Given the description of an element on the screen output the (x, y) to click on. 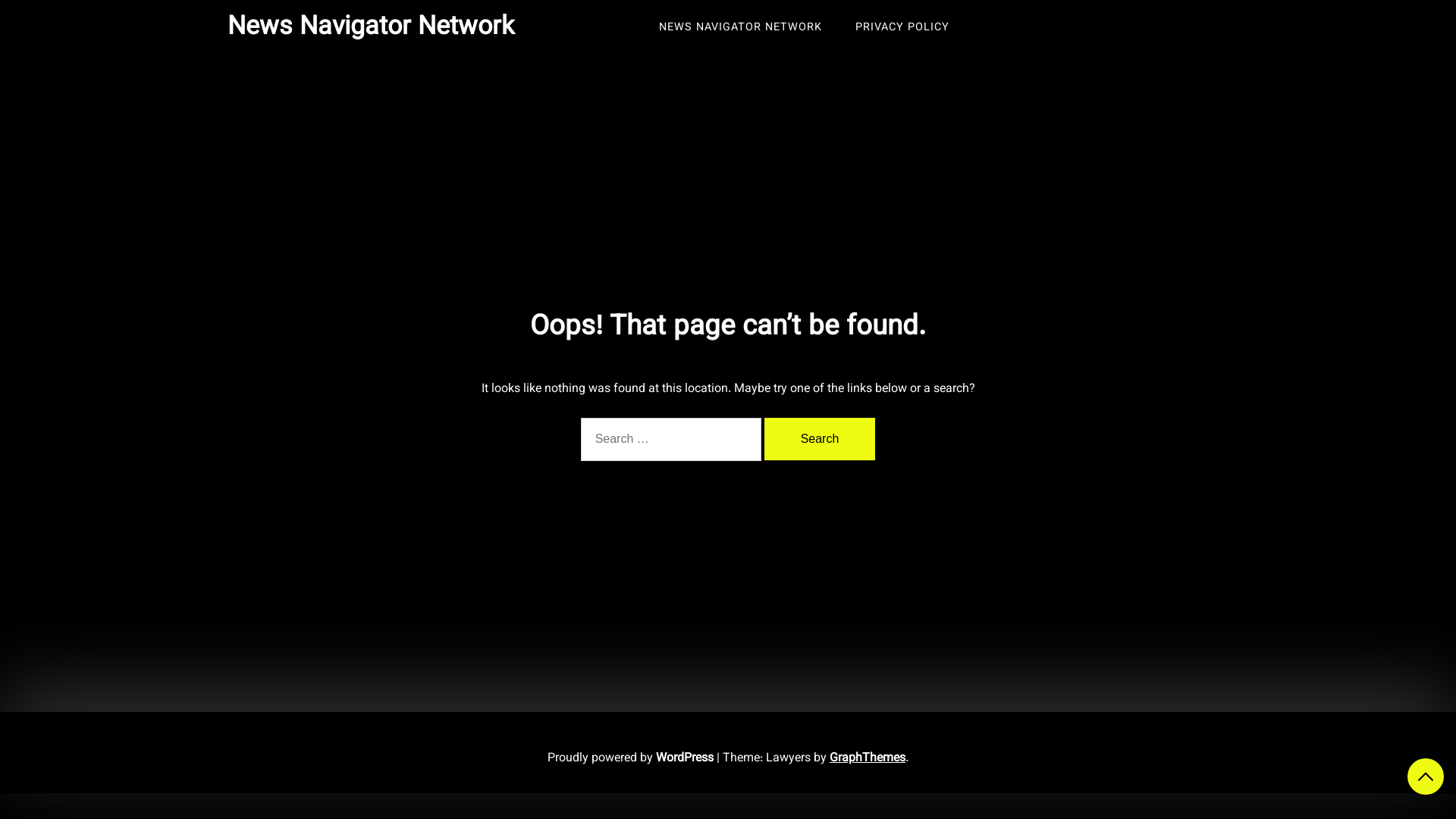
Search Element type: text (819, 438)
PRIVACY POLICY Element type: text (902, 27)
Proudly powered by WordPress Element type: text (631, 758)
News Navigator Network Element type: text (370, 27)
GraphThemes Element type: text (867, 758)
NEWS NAVIGATOR NETWORK Element type: text (739, 27)
